Given the description of an element on the screen output the (x, y) to click on. 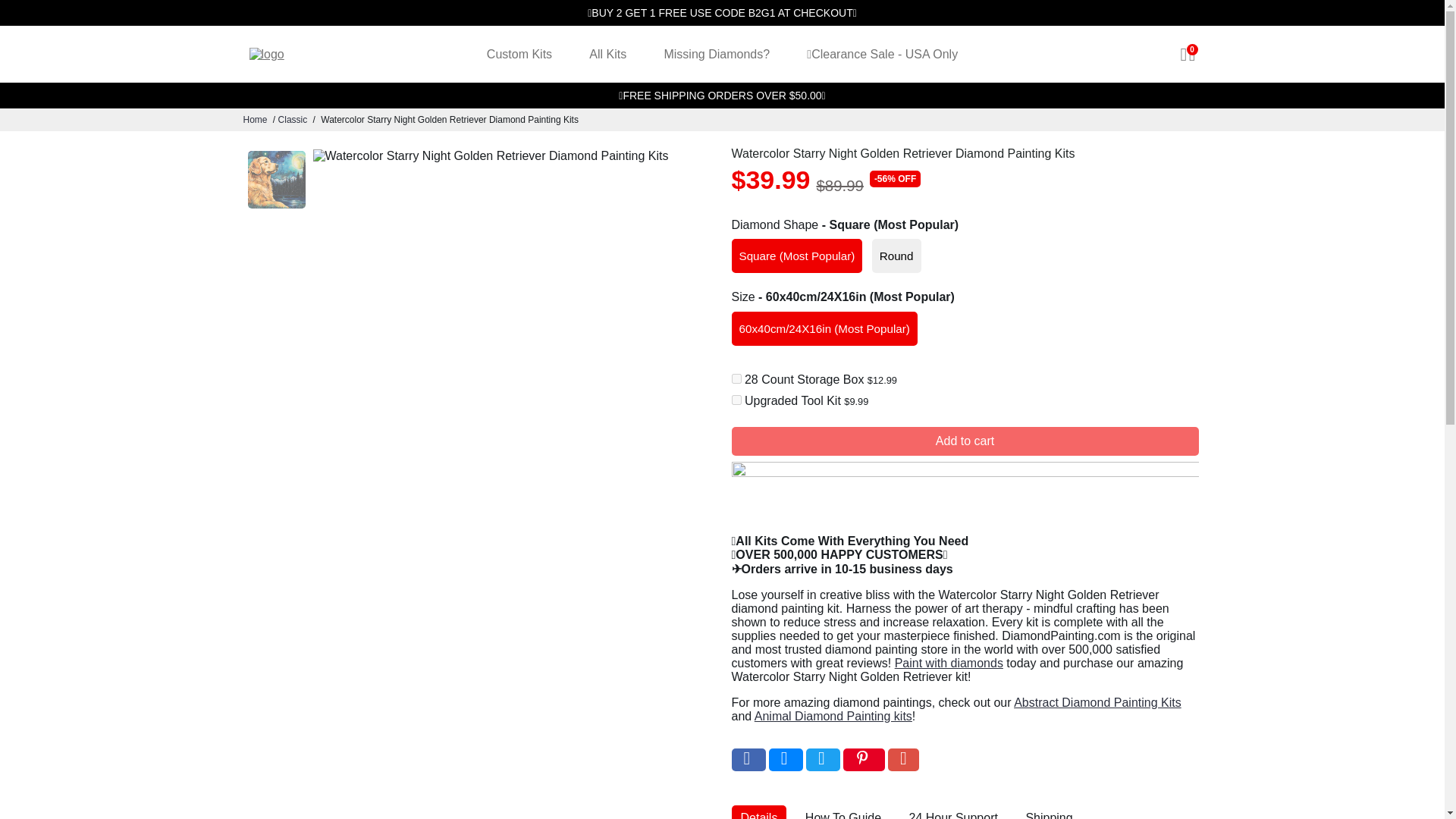
Classic (292, 119)
Custom Kits (519, 53)
Add to cart (964, 440)
Animal Diamond Painting kits (833, 716)
Home (254, 119)
Home (254, 119)
Abstract Diamond Painting Kits (1096, 702)
on (735, 378)
Missing Diamonds? (715, 53)
on (735, 399)
All Kits (607, 53)
Paint with diamonds (949, 662)
